Given the description of an element on the screen output the (x, y) to click on. 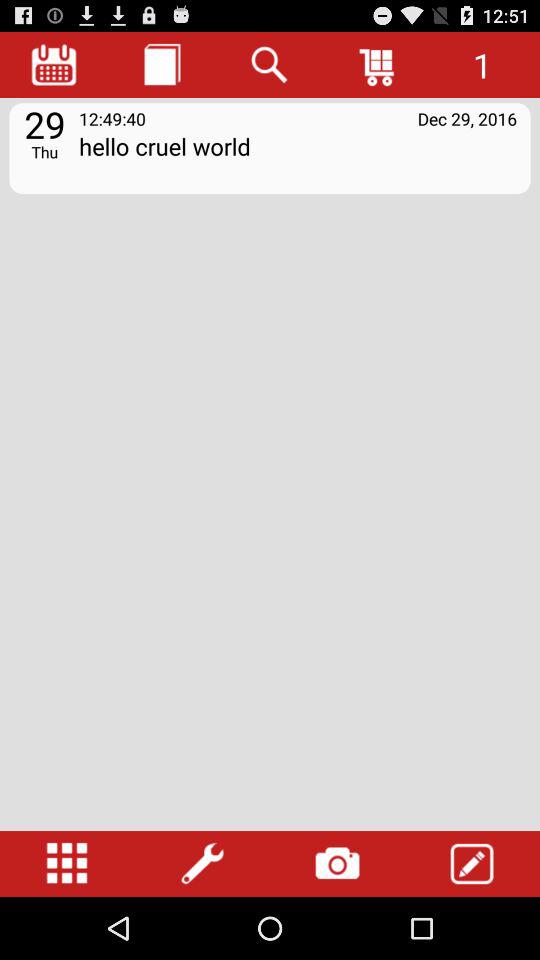
add picture (337, 863)
